Given the description of an element on the screen output the (x, y) to click on. 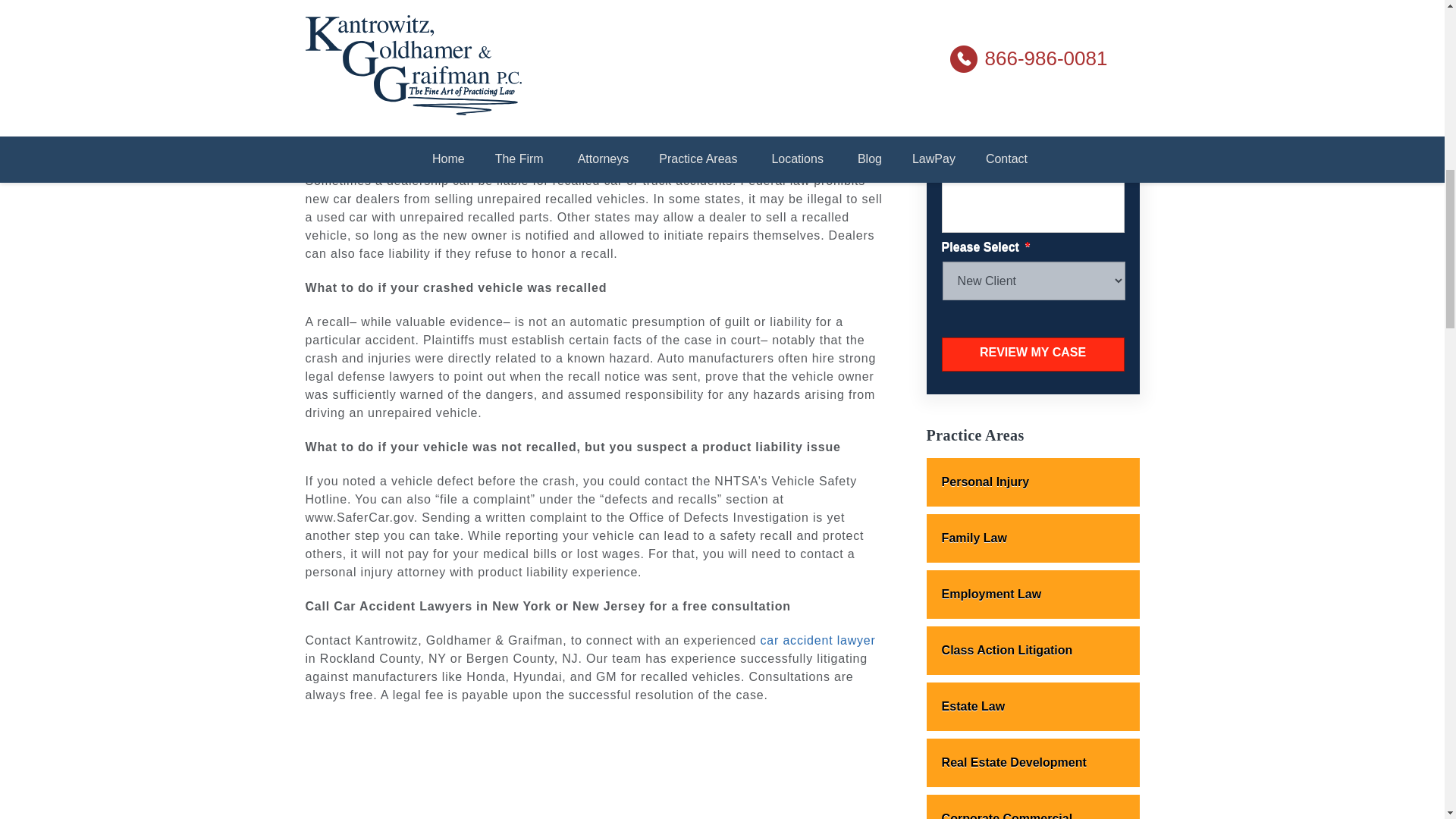
REVIEW MY CASE (1033, 354)
